Given the description of an element on the screen output the (x, y) to click on. 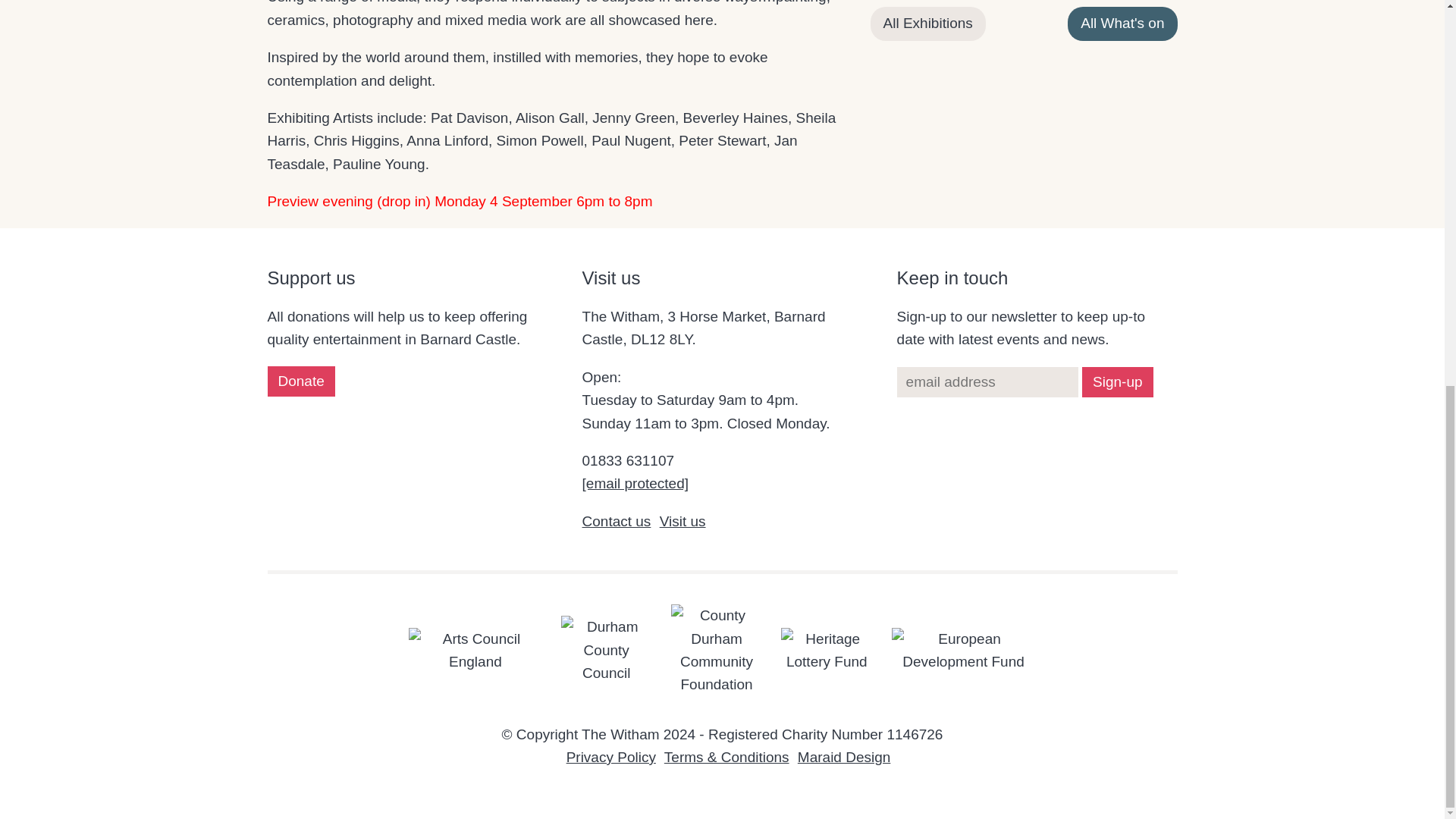
All What's on (1121, 23)
All Exhibitions (927, 23)
Contact us (616, 521)
Sign-up (1117, 381)
Sign-up (1117, 381)
Visit us (682, 521)
Donate (300, 381)
